Given the description of an element on the screen output the (x, y) to click on. 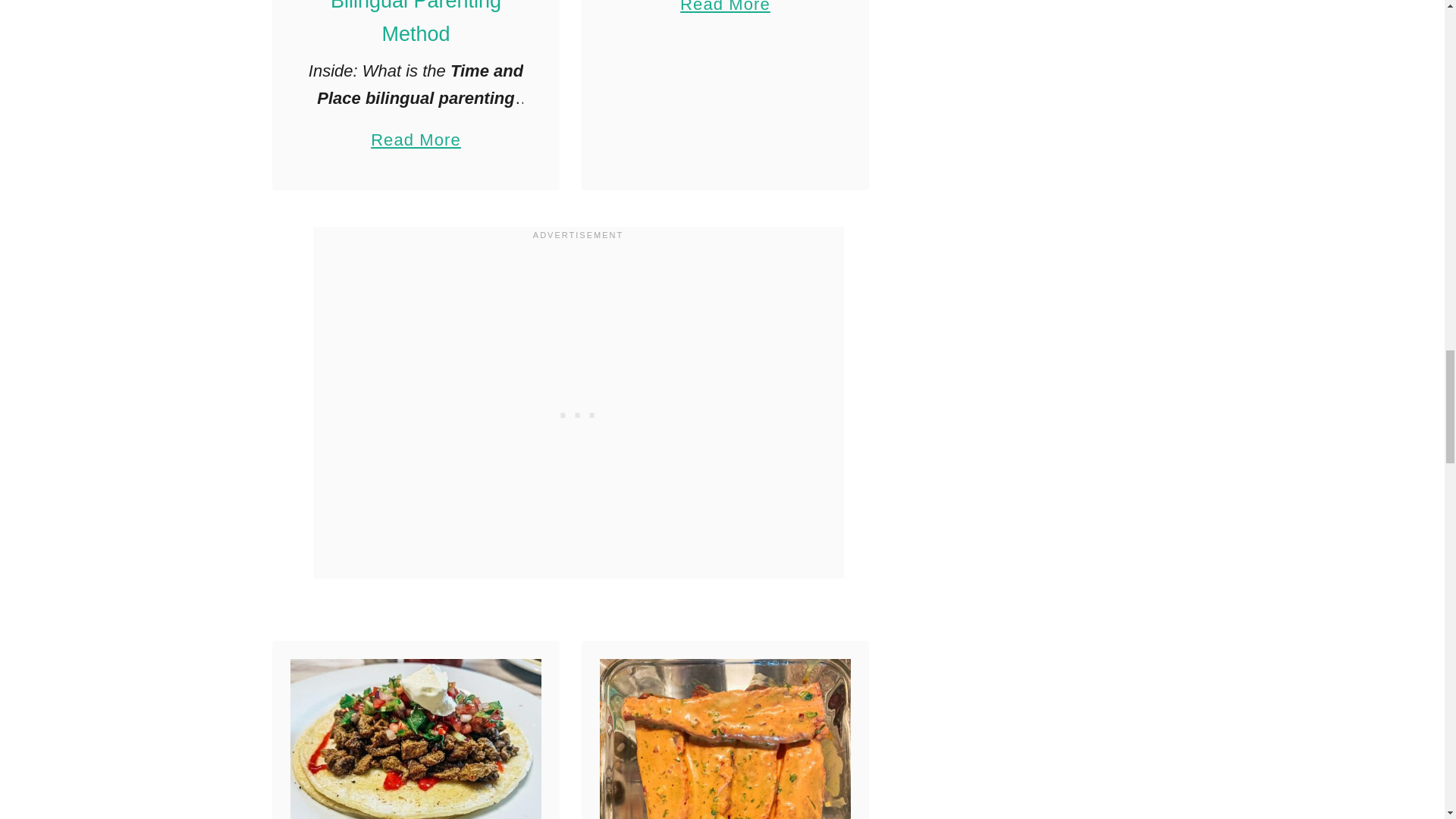
Salvadoran Carne Asada Tacos (415, 739)
Time and Place: A Bilingual Parenting Method (724, 9)
